Given the description of an element on the screen output the (x, y) to click on. 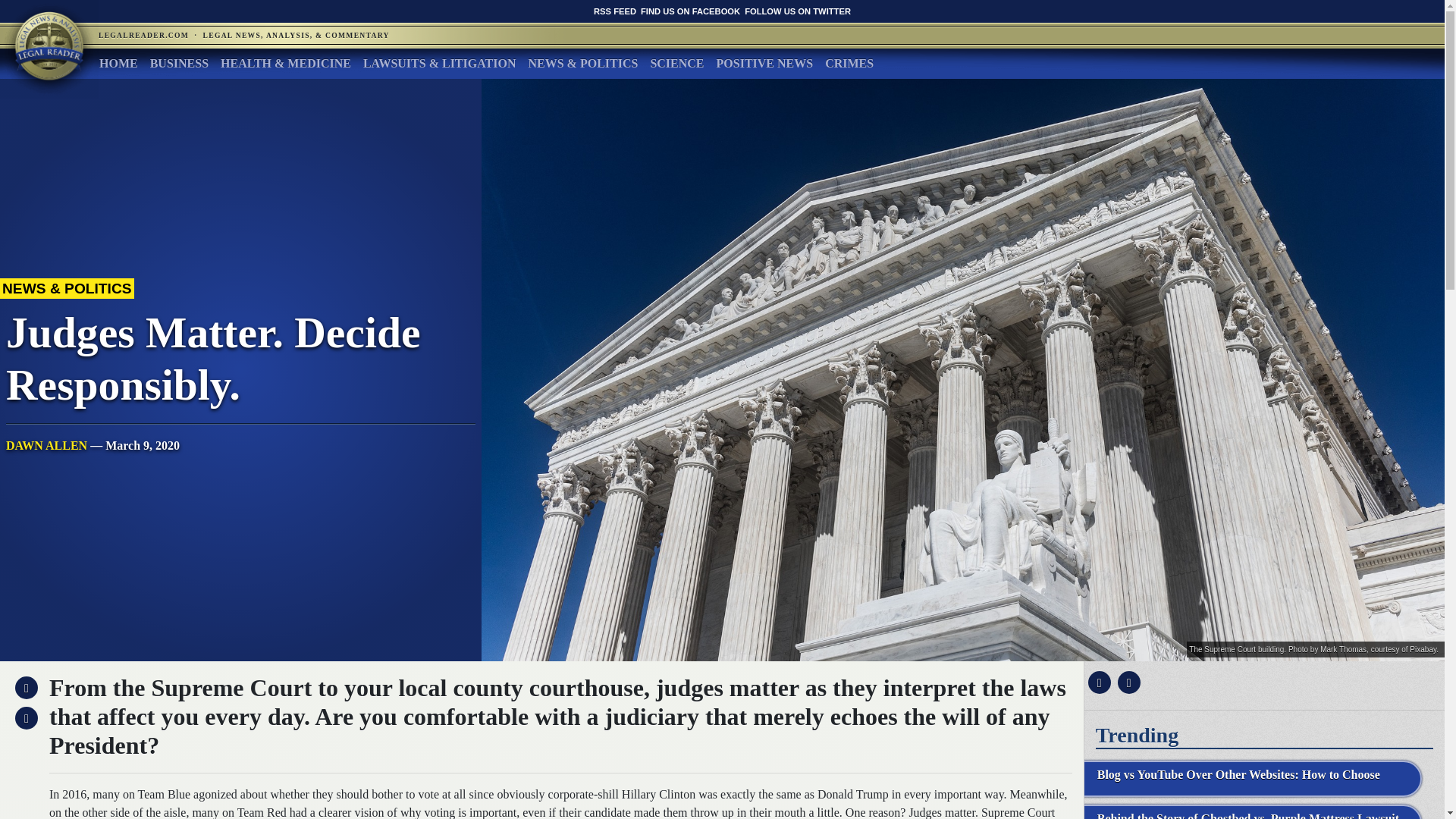
Business (179, 63)
RSS FEED (615, 10)
BUSINESS (179, 63)
Follow Legal Reader on Twitter (797, 10)
Home (118, 63)
FOLLOW US ON TWITTER (797, 10)
FIND US ON FACEBOOK (689, 10)
Share on facebook (1097, 682)
Science (676, 63)
DAWN ALLEN (46, 445)
SCIENCE (676, 63)
Find Legal Reader on Facebook (689, 10)
HOME (118, 63)
Legal Reader News Feed (615, 10)
CRIMES (848, 63)
